Given the description of an element on the screen output the (x, y) to click on. 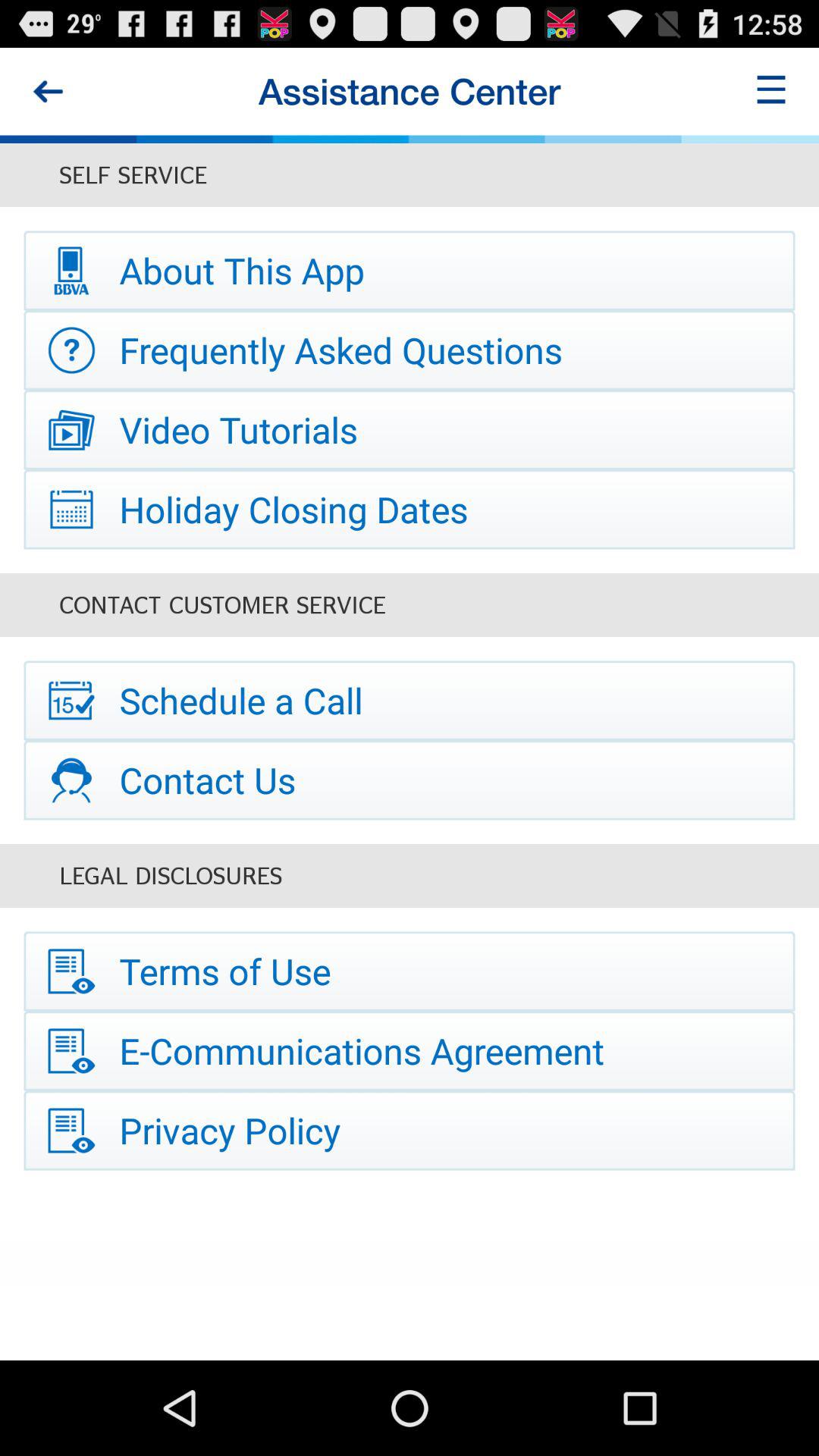
scroll until terms of use (409, 971)
